Given the description of an element on the screen output the (x, y) to click on. 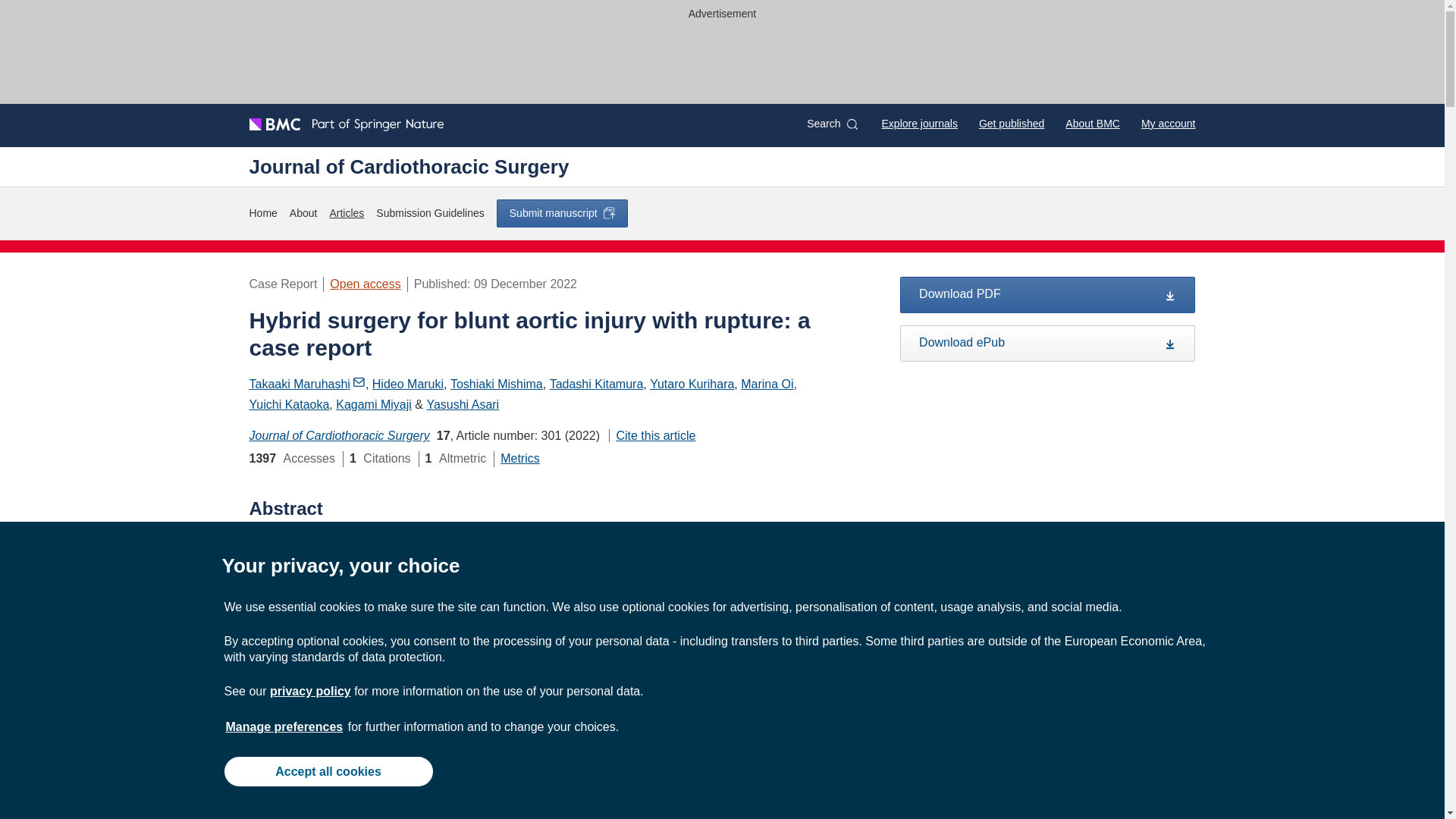
Search (831, 123)
Manage preferences (284, 726)
Toshiaki Mishima (496, 383)
Open access (365, 283)
Submit manuscript (561, 212)
Submission Guidelines (429, 212)
Yutaro Kurihara (691, 383)
Articles (346, 212)
My account (1168, 123)
Home (262, 212)
